Given the description of an element on the screen output the (x, y) to click on. 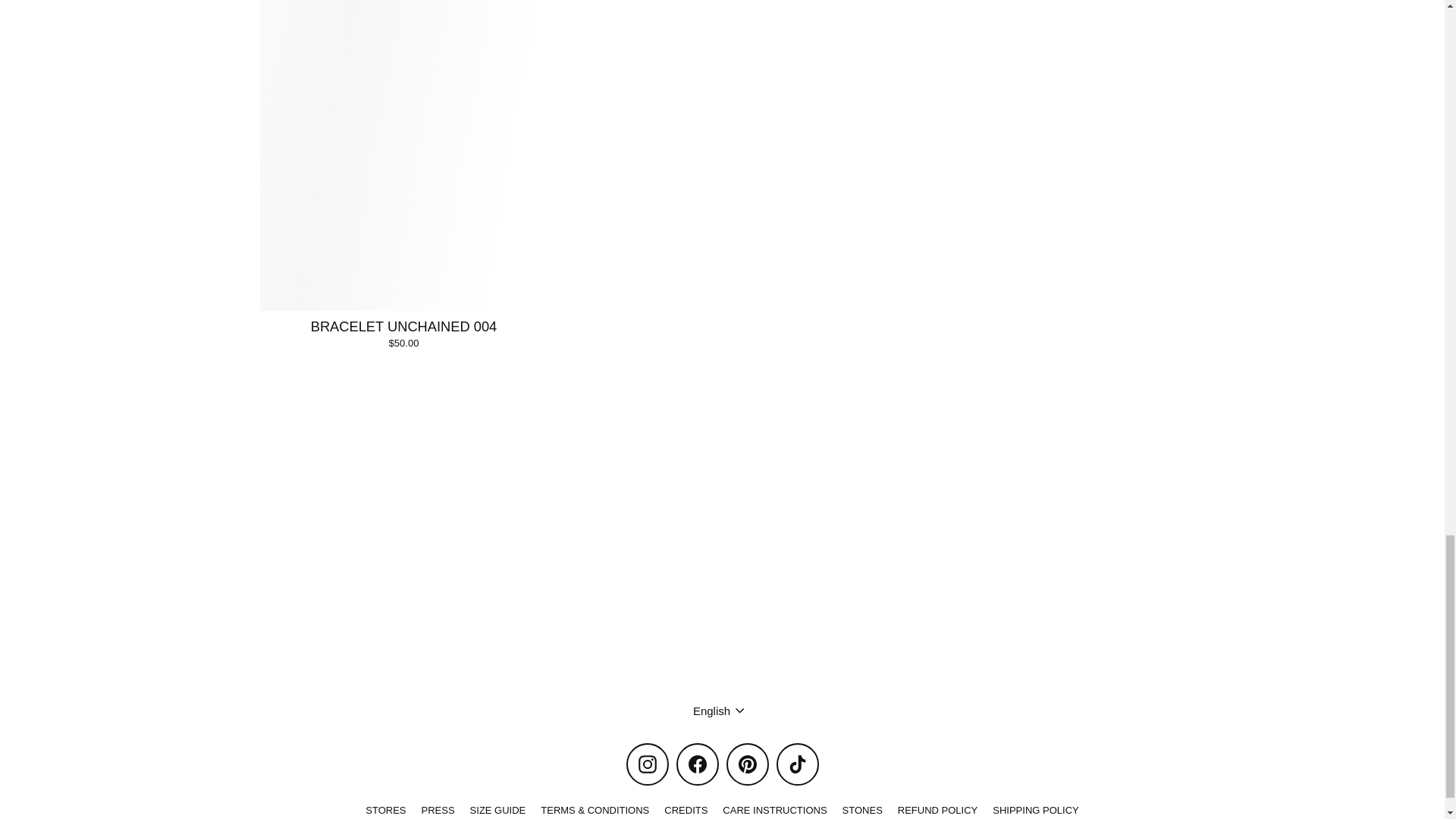
llayers on Pinterest (747, 763)
instagram (647, 764)
llayers on Facebook (698, 763)
llayers on TikTok (797, 763)
llayers on Instagram (647, 763)
